Given the description of an element on the screen output the (x, y) to click on. 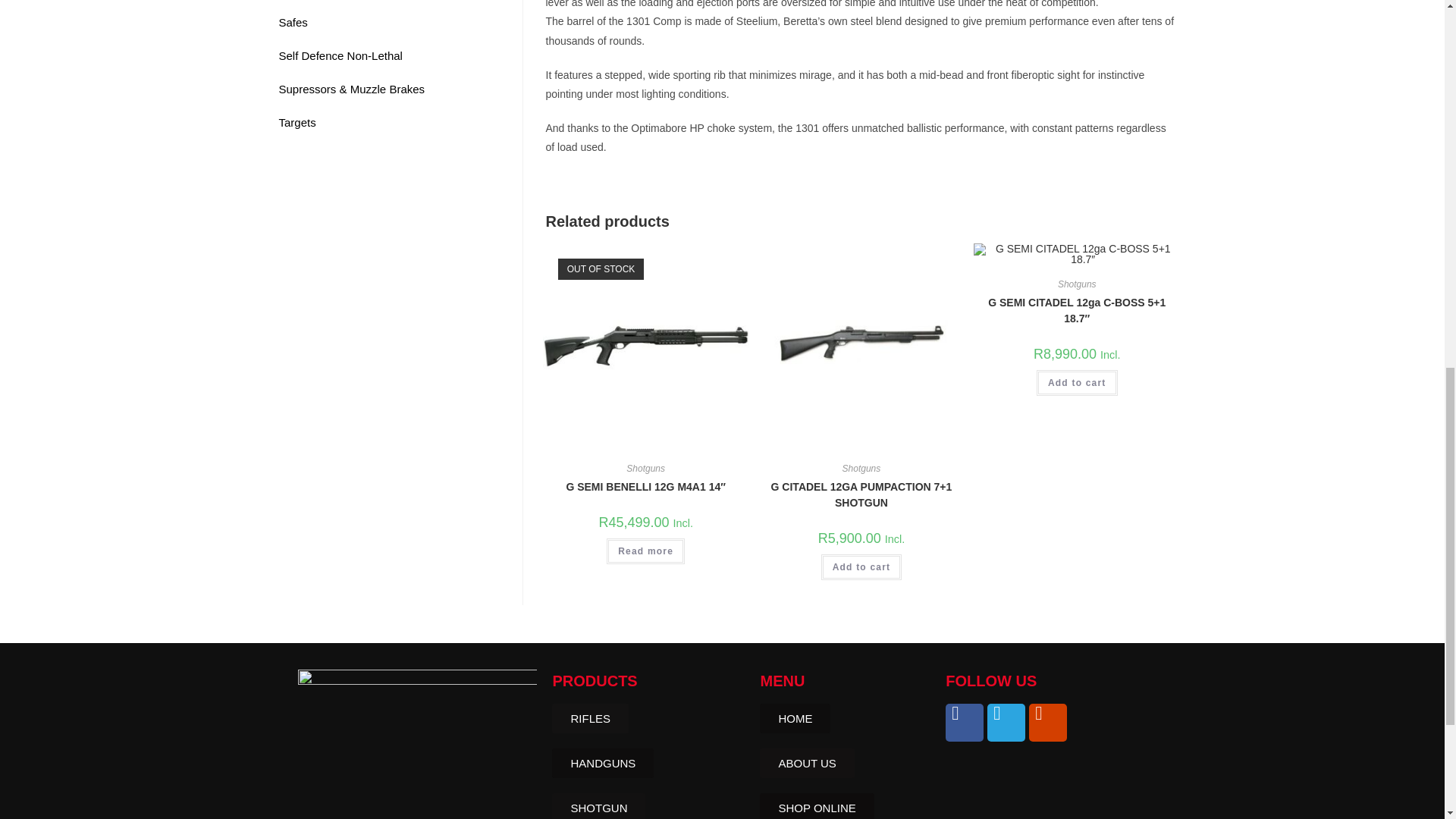
Read more (645, 551)
Add to cart (861, 566)
Shotguns (861, 468)
Shotguns (645, 468)
